Given the description of an element on the screen output the (x, y) to click on. 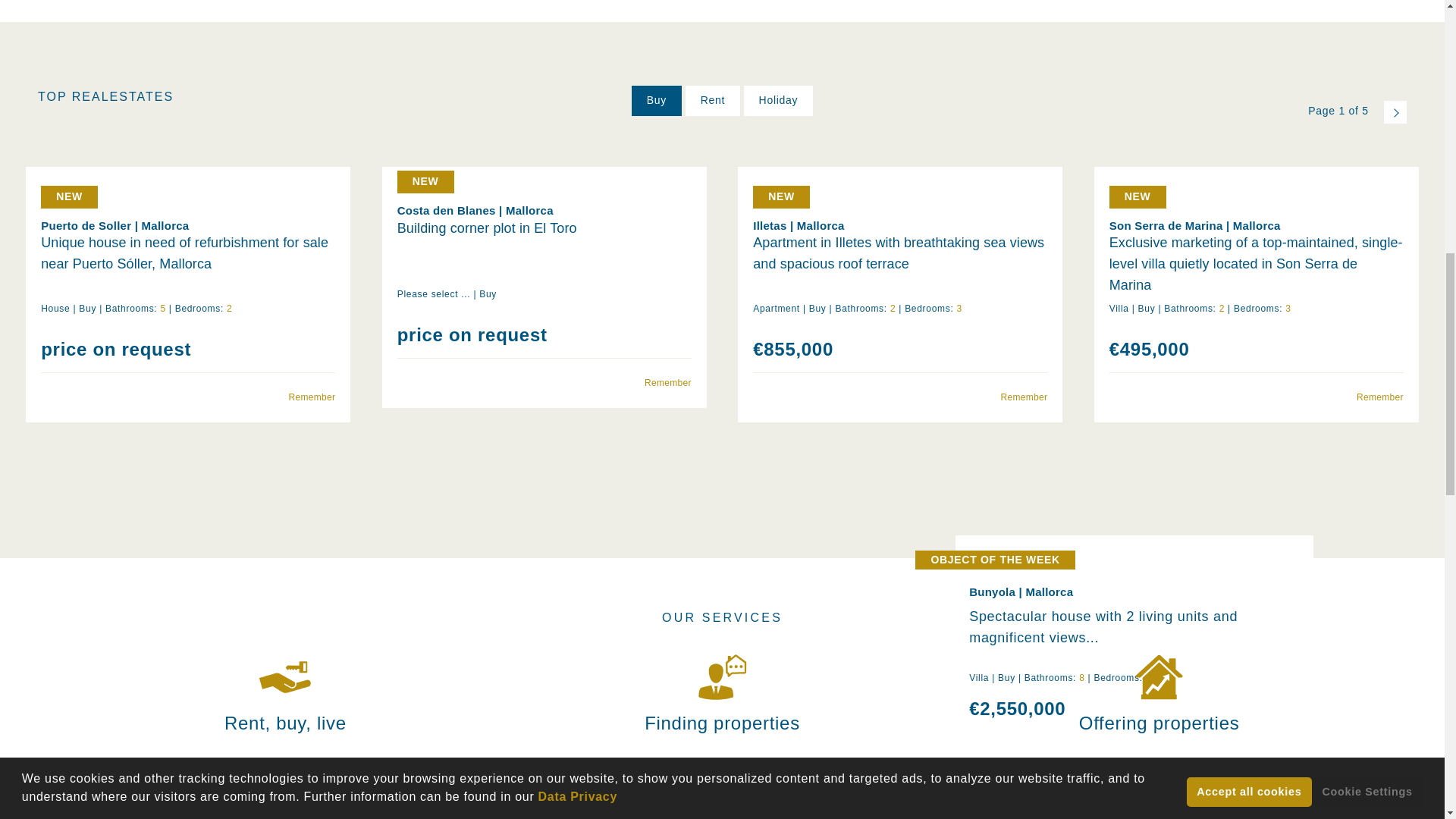
Building corner plot in El Toro (543, 174)
Building corner plot in El Toro (544, 248)
